Given the description of an element on the screen output the (x, y) to click on. 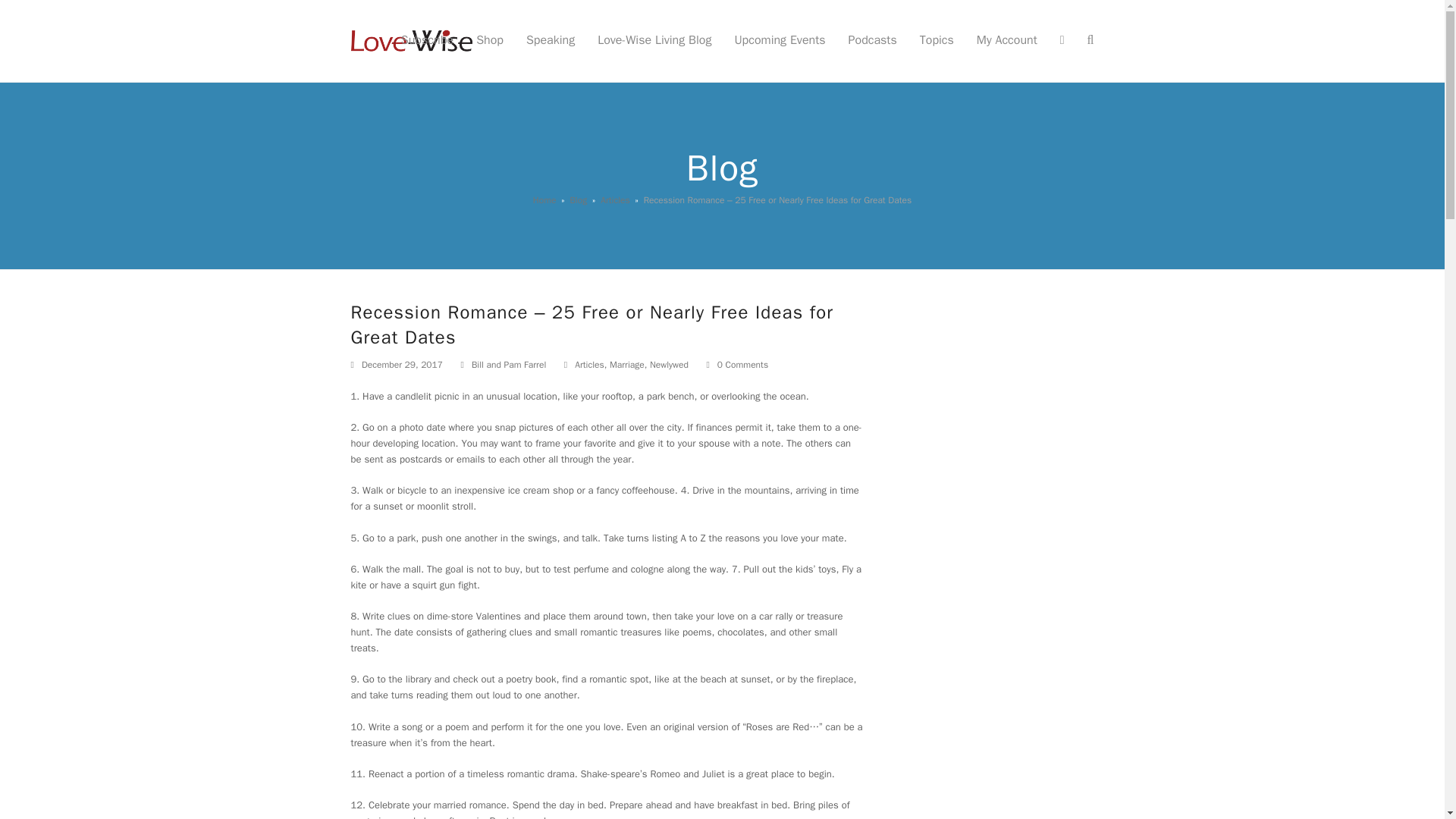
Love-Wise Living Blog (654, 40)
Marriage (627, 363)
Bill and Pam Farrel (508, 363)
Shop (489, 40)
Speaking (550, 40)
Podcasts (872, 40)
0 Comments (742, 365)
Articles (614, 200)
0 Comments (737, 365)
My Account (1006, 40)
Topics (936, 40)
Home (544, 200)
Posts by Bill and Pam Farrel (508, 363)
Subscribe (427, 40)
